Given the description of an element on the screen output the (x, y) to click on. 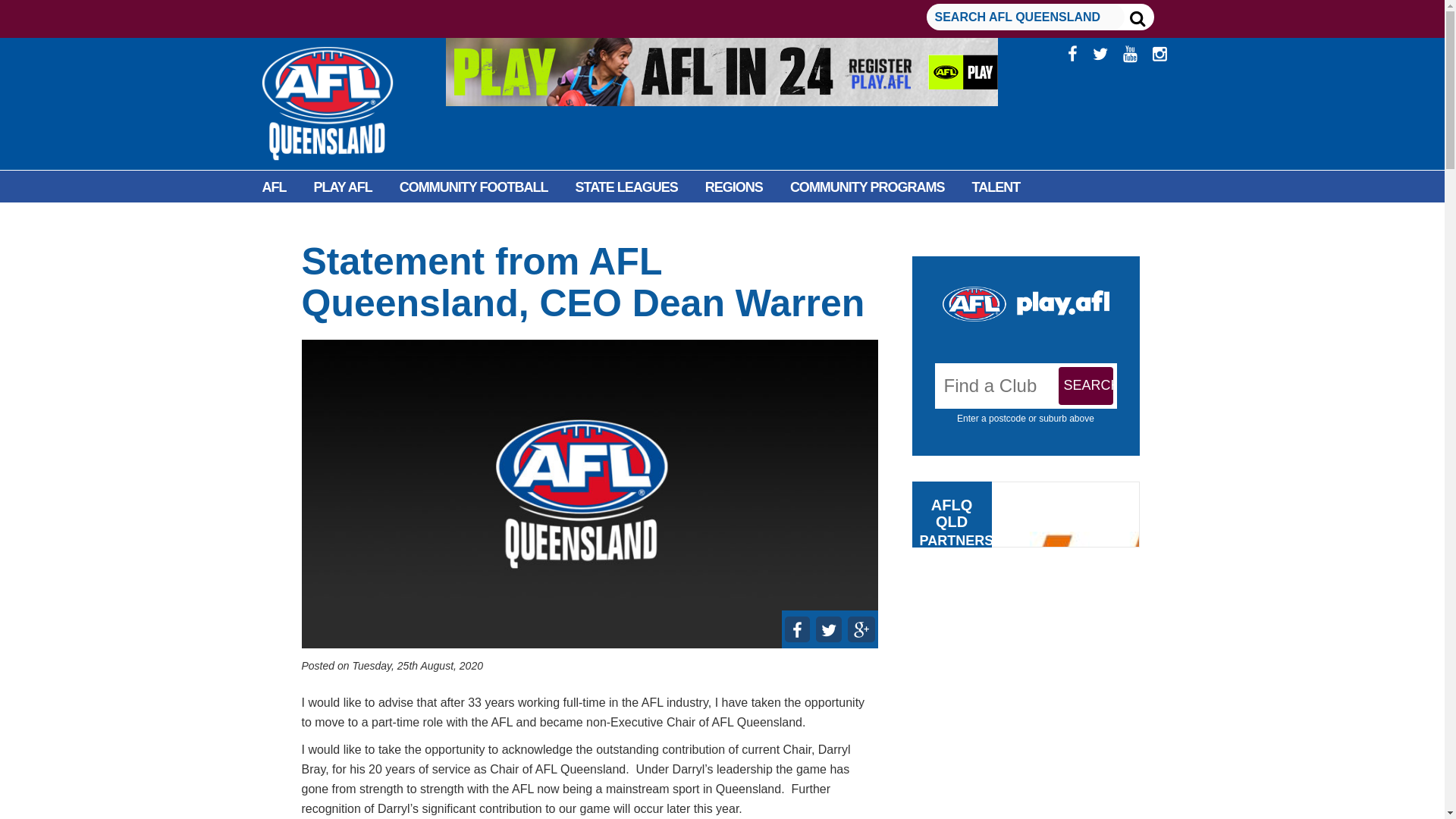
FACILITIES (295, 221)
PLAY AFL (342, 187)
INFORMATION HUB (414, 221)
COMMUNITY FOOTBALL (473, 187)
STATE LEAGUES (626, 187)
COMMUNITY PROGRAMS (867, 187)
TALENT (995, 187)
Search (1085, 385)
Search (1085, 385)
REGIONS (733, 187)
